Given the description of an element on the screen output the (x, y) to click on. 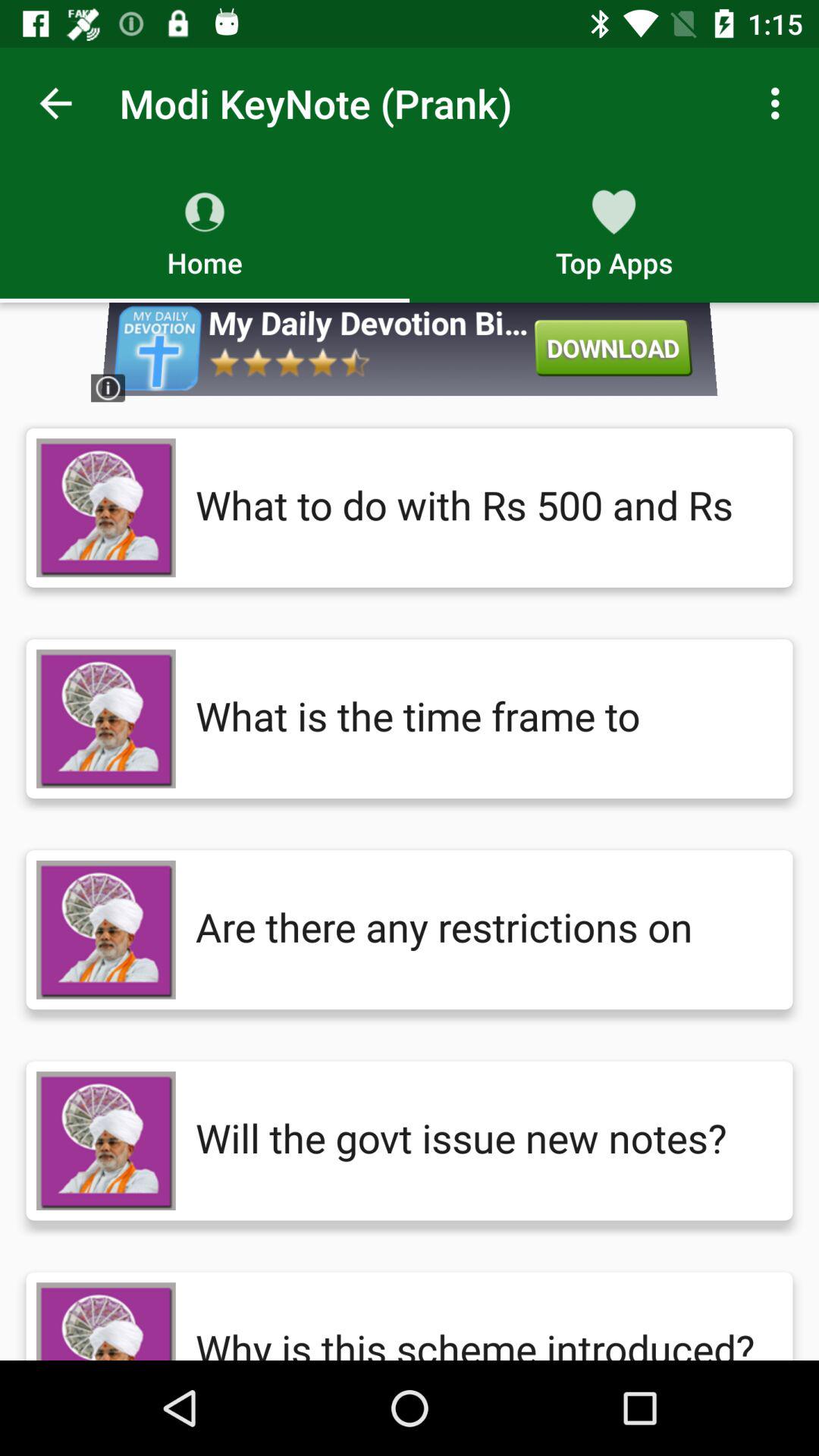
press the icon to the right of modi keynote (prank) app (779, 103)
